Given the description of an element on the screen output the (x, y) to click on. 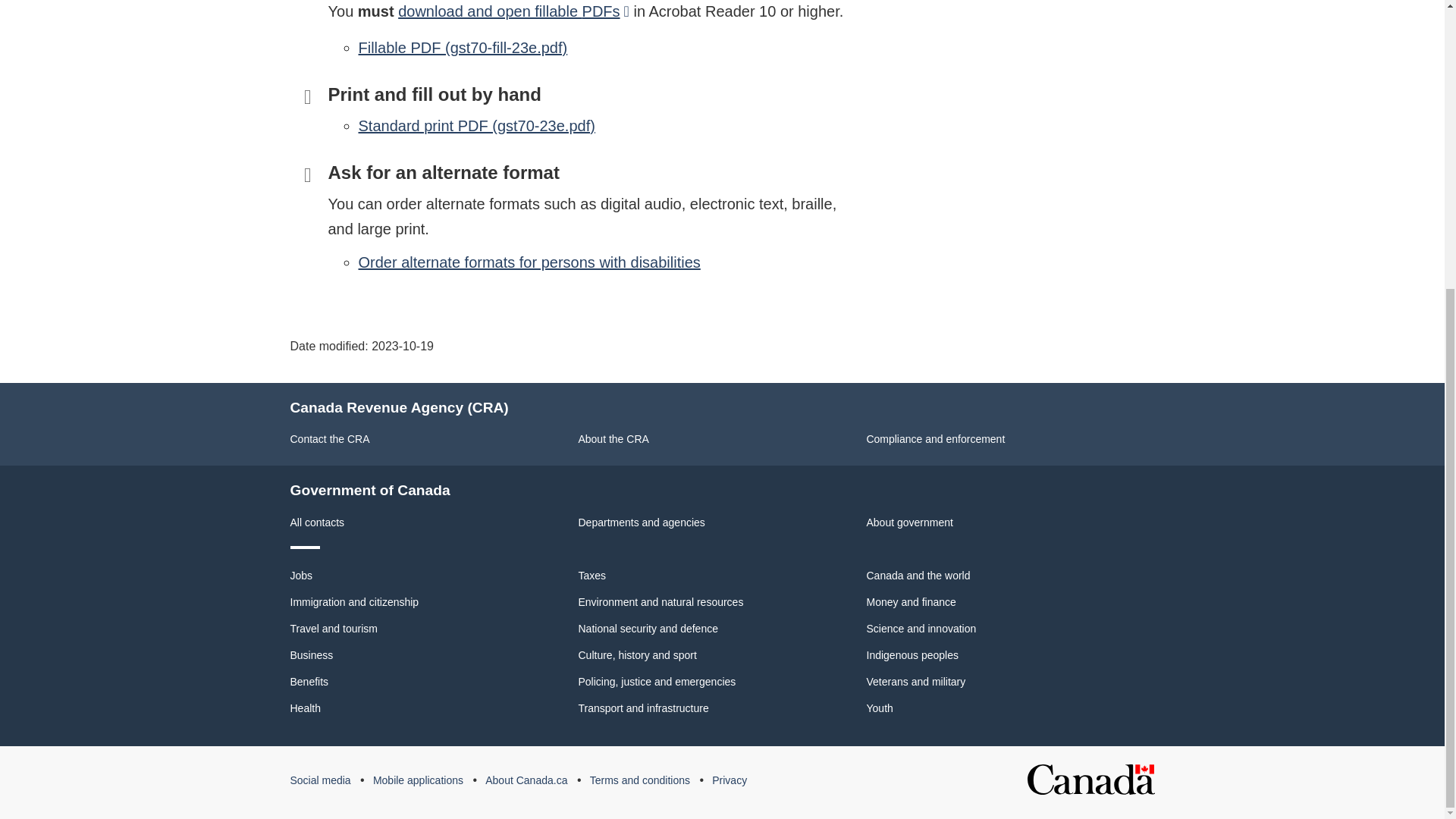
All contacts (316, 522)
Contact the CRA (329, 439)
About the CRA (612, 439)
Travel and tourism (333, 628)
Order alternate formats for persons with disabilities (529, 262)
About government (909, 522)
Immigration and citizenship (354, 602)
Departments and agencies (641, 522)
Jobs (301, 575)
Compliance and enforcement (935, 439)
